Given the description of an element on the screen output the (x, y) to click on. 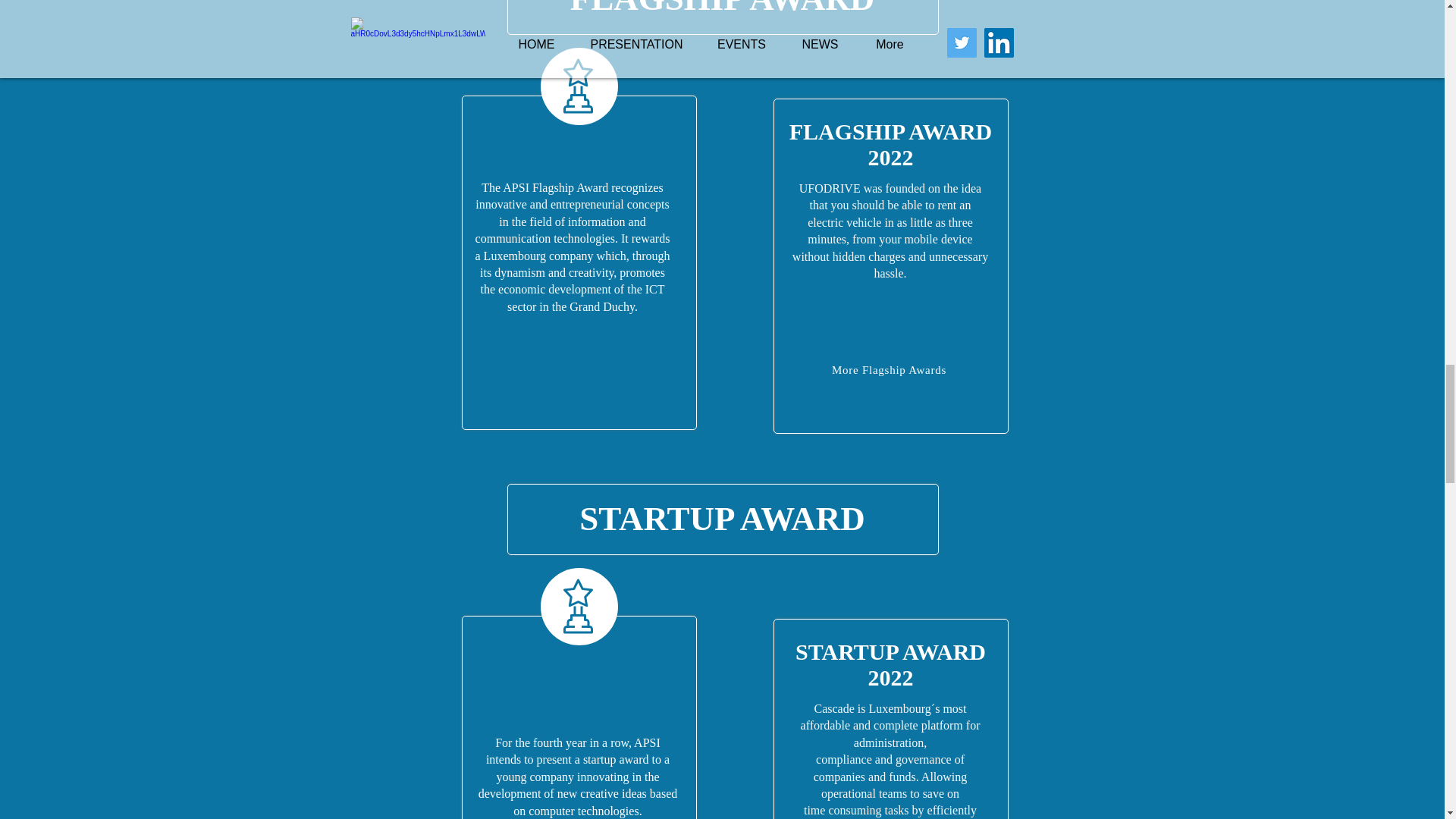
STARTUP AWARD (721, 518)
More Flagship Awards (890, 370)
STARTUP AWARD (889, 651)
FLAGSHIP AWARD (722, 8)
FLAGSHIP AWARD (890, 131)
